Given the description of an element on the screen output the (x, y) to click on. 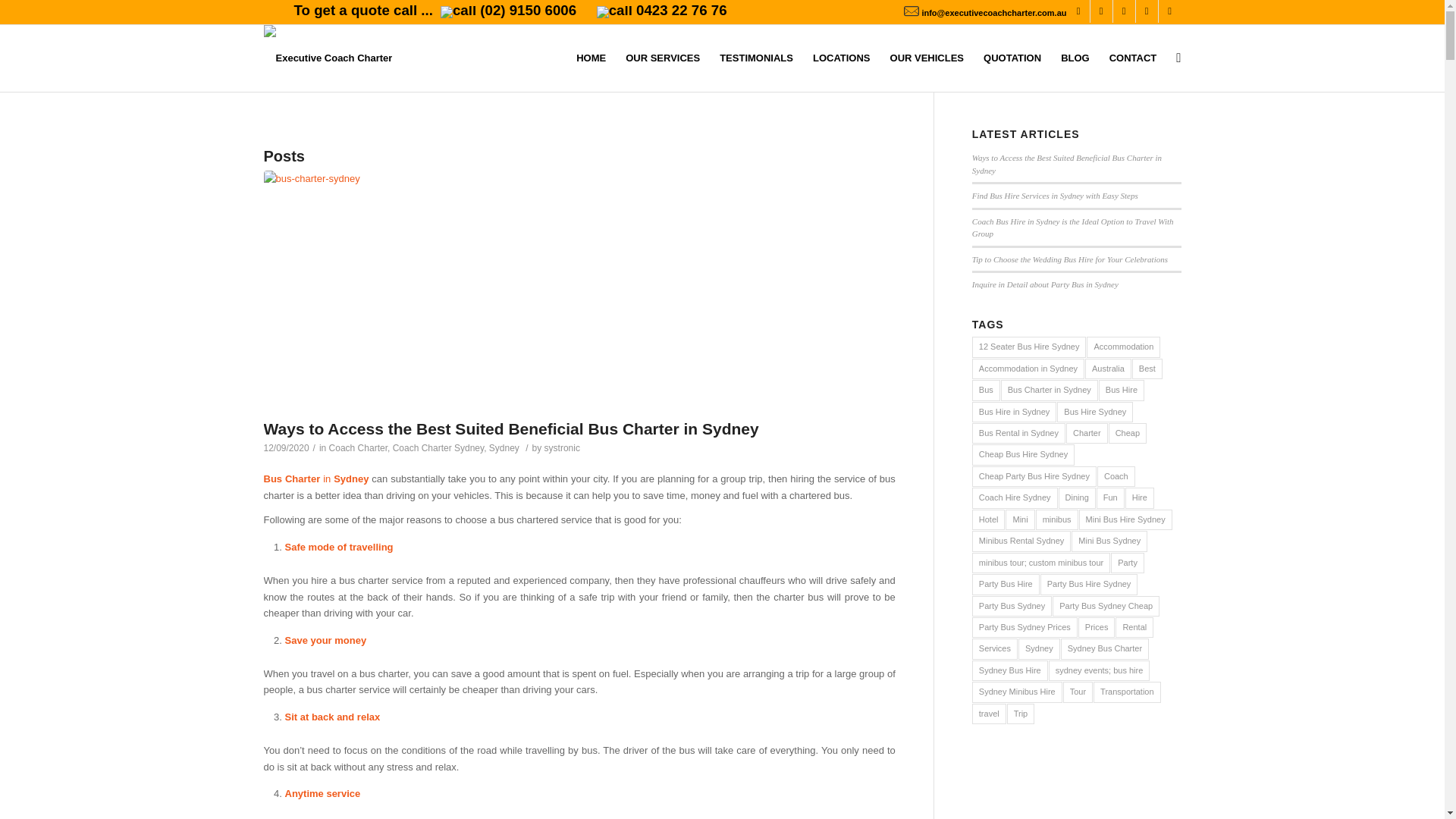
Behance Element type: hover (1124, 11)
CONTACT Element type: text (1133, 58)
Mini Element type: text (1019, 519)
Sydney Element type: text (504, 447)
Cheap Bus Hire Sydney Element type: text (1023, 454)
Hire Element type: text (1139, 497)
sydney events; bus hire Element type: text (1099, 670)
12 Seater Bus Hire Sydney Element type: text (1029, 346)
Facebook Element type: hover (1078, 11)
mail Element type: hover (911, 10)
minibus tour; custom minibus tour Element type: text (1041, 562)
Bus Hire Element type: text (1121, 389)
Accommodation in Sydney Element type: text (1028, 368)
Trip Element type: text (1021, 713)
Bus Hire in Sydney Element type: text (1014, 411)
systronic Element type: text (562, 447)
Dining Element type: text (1076, 497)
Sydney Bus Hire Element type: text (1010, 670)
BLOG Element type: text (1075, 58)
Fun Element type: text (1110, 497)
Party Bus Sydney Cheap Element type: text (1105, 606)
Party Bus Hire Sydney Element type: text (1089, 584)
Coach Charter Sydney Element type: text (438, 447)
Sydney Minibus Hire Element type: text (1017, 691)
LOCATIONS Element type: text (841, 58)
Cheap Element type: text (1127, 433)
Bus Charter in Sydney Element type: text (316, 478)
TESTIMONIALS Element type: text (756, 58)
travel Element type: text (989, 713)
Services Element type: text (994, 648)
Bus Charter in Sydney Element type: text (1049, 389)
Mail Element type: hover (1169, 11)
Bus Element type: text (986, 389)
Transportation Element type: text (1127, 691)
Coach Hire Sydney Element type: text (1014, 497)
Party Bus Sydney Element type: text (1011, 606)
Accommodation Element type: text (1123, 346)
minibus Element type: text (1056, 519)
OUR VEHICLES Element type: text (927, 58)
Rental Element type: text (1134, 627)
Tip to Choose the Wedding Bus Hire for Your Celebrations Element type: text (1069, 258)
Party Bus Sydney Prices Element type: text (1024, 627)
QUOTATION Element type: text (1012, 58)
Bus Rental in Sydney Element type: text (1018, 433)
call Element type: hover (458, 12)
Sydney Element type: text (1039, 648)
Australia Element type: text (1108, 368)
Best Element type: text (1147, 368)
Hotel Element type: text (988, 519)
Inquire in Detail about Party Bus in Sydney Element type: text (1045, 283)
Party Element type: text (1127, 562)
 (02) 9150 6006  Element type: text (510, 10)
Find Bus Hire Services in Sydney with Easy Steps Element type: text (1055, 195)
 0423 22 76 76 Element type: text (661, 10)
Bus Hire Sydney Element type: text (1094, 411)
Cheap Party Bus Hire Sydney Element type: text (1034, 476)
Charter Element type: text (1086, 433)
HOME Element type: text (590, 58)
Mini Bus Sydney Element type: text (1109, 540)
Coach Charter Element type: text (358, 447)
call Element type: hover (614, 12)
Party Bus Hire Element type: text (1005, 584)
Mini Bus Hire Sydney Element type: text (1125, 519)
Tour Element type: text (1077, 691)
info@executivecoachcharter.com.au Element type: text (993, 12)
Minibus Rental Sydney Element type: text (1021, 540)
Prices Element type: text (1096, 627)
Soundcloud Element type: hover (1146, 11)
OUR SERVICES Element type: text (662, 58)
Linkedin Element type: hover (1101, 11)
Sydney Bus Charter Element type: text (1104, 648)
Coach Element type: text (1116, 476)
